Given the description of an element on the screen output the (x, y) to click on. 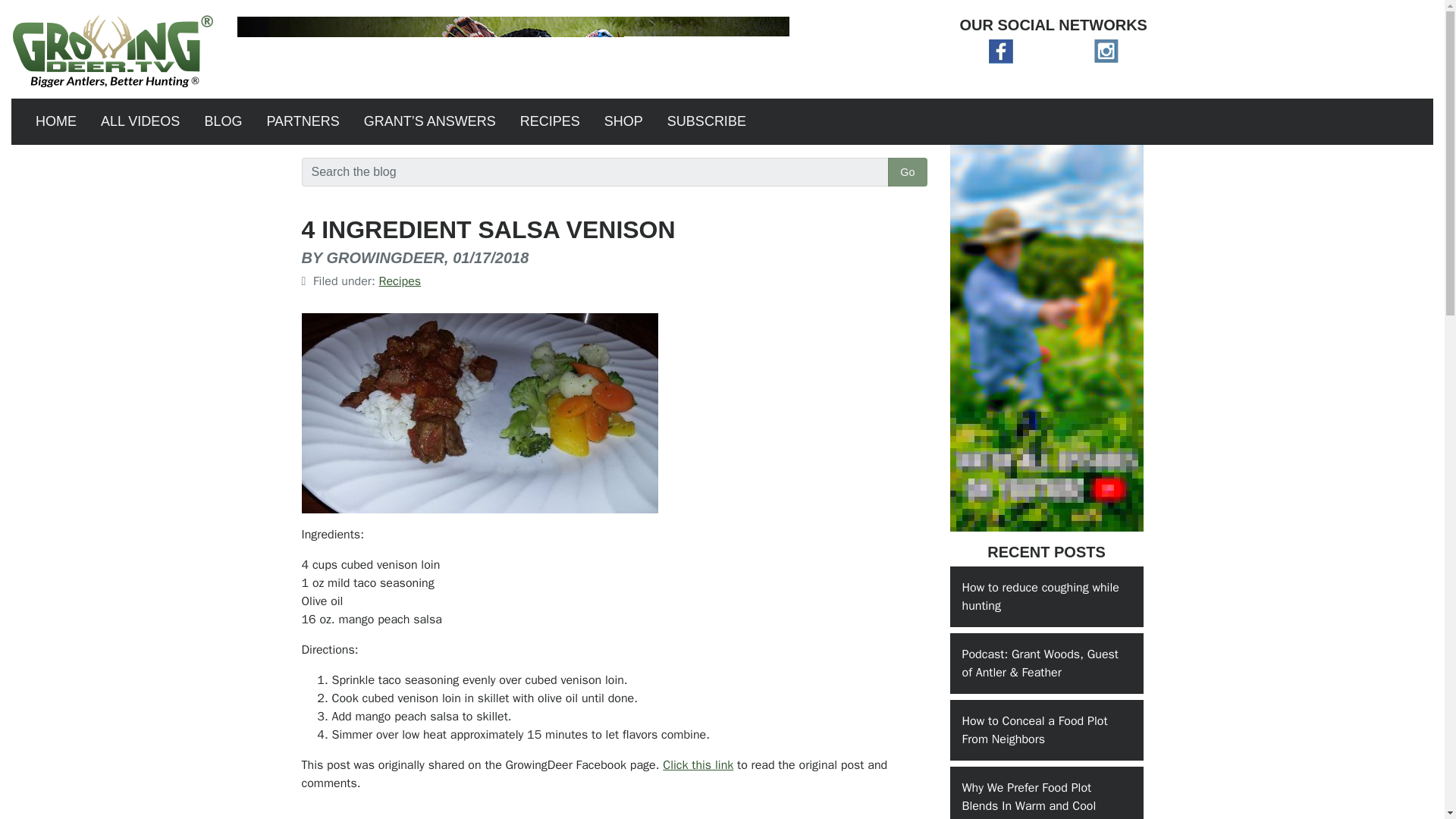
BLOG (222, 121)
RECIPES (550, 121)
SHOP (623, 121)
SUBSCRIBE (706, 121)
HOME (55, 121)
Go (907, 172)
ALL VIDEOS (140, 121)
PARTNERS (301, 121)
Click this link (697, 765)
